Given the description of an element on the screen output the (x, y) to click on. 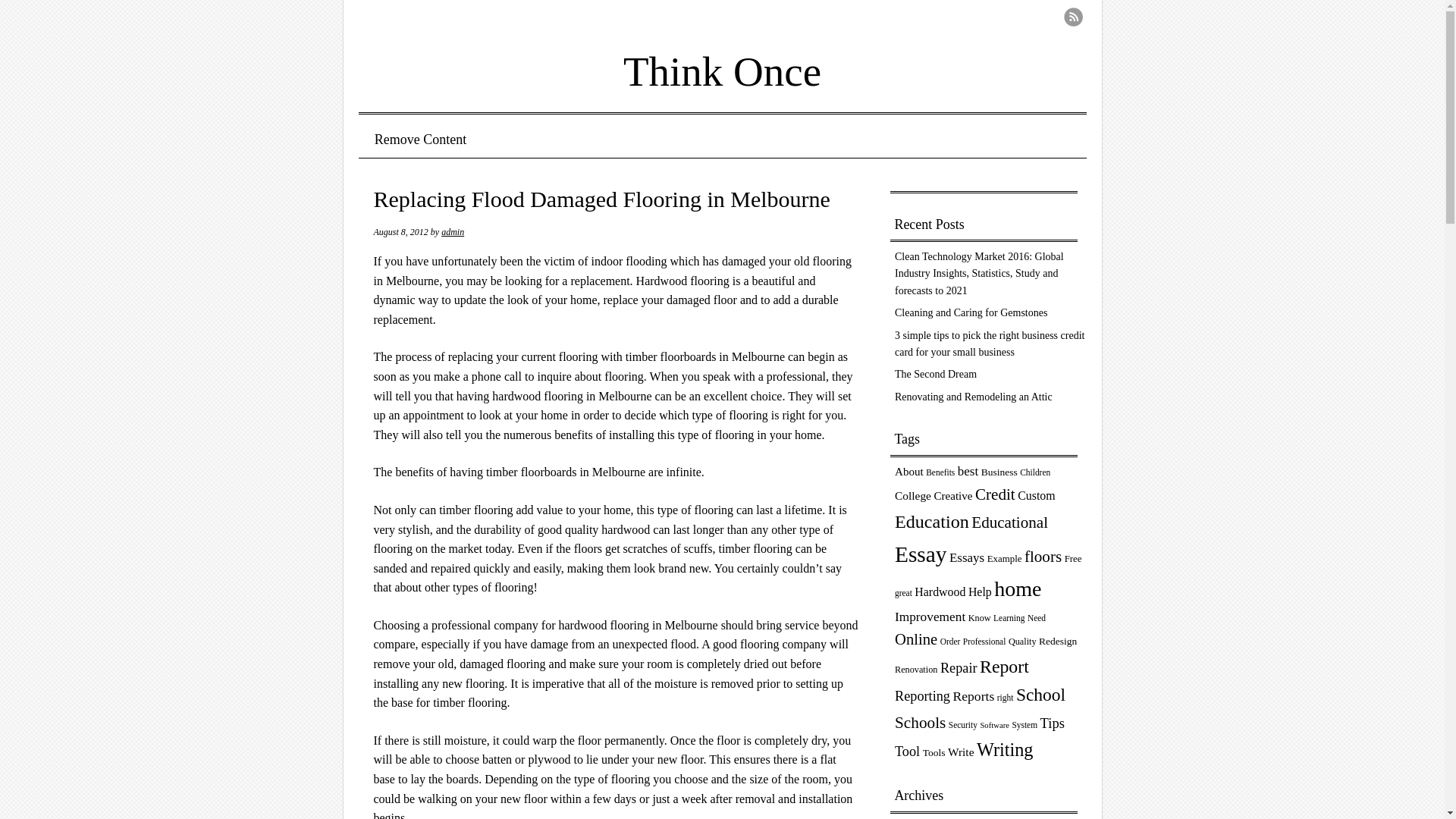
Help (979, 591)
Education (932, 521)
Hardwood (939, 591)
Skip to content (415, 140)
Educational (1009, 522)
Essay (920, 554)
Skip to content (415, 140)
The Second Dream (935, 374)
About (909, 471)
Essays (966, 557)
Custom (1035, 495)
floors (1043, 556)
RSS Feed (1071, 16)
